Given the description of an element on the screen output the (x, y) to click on. 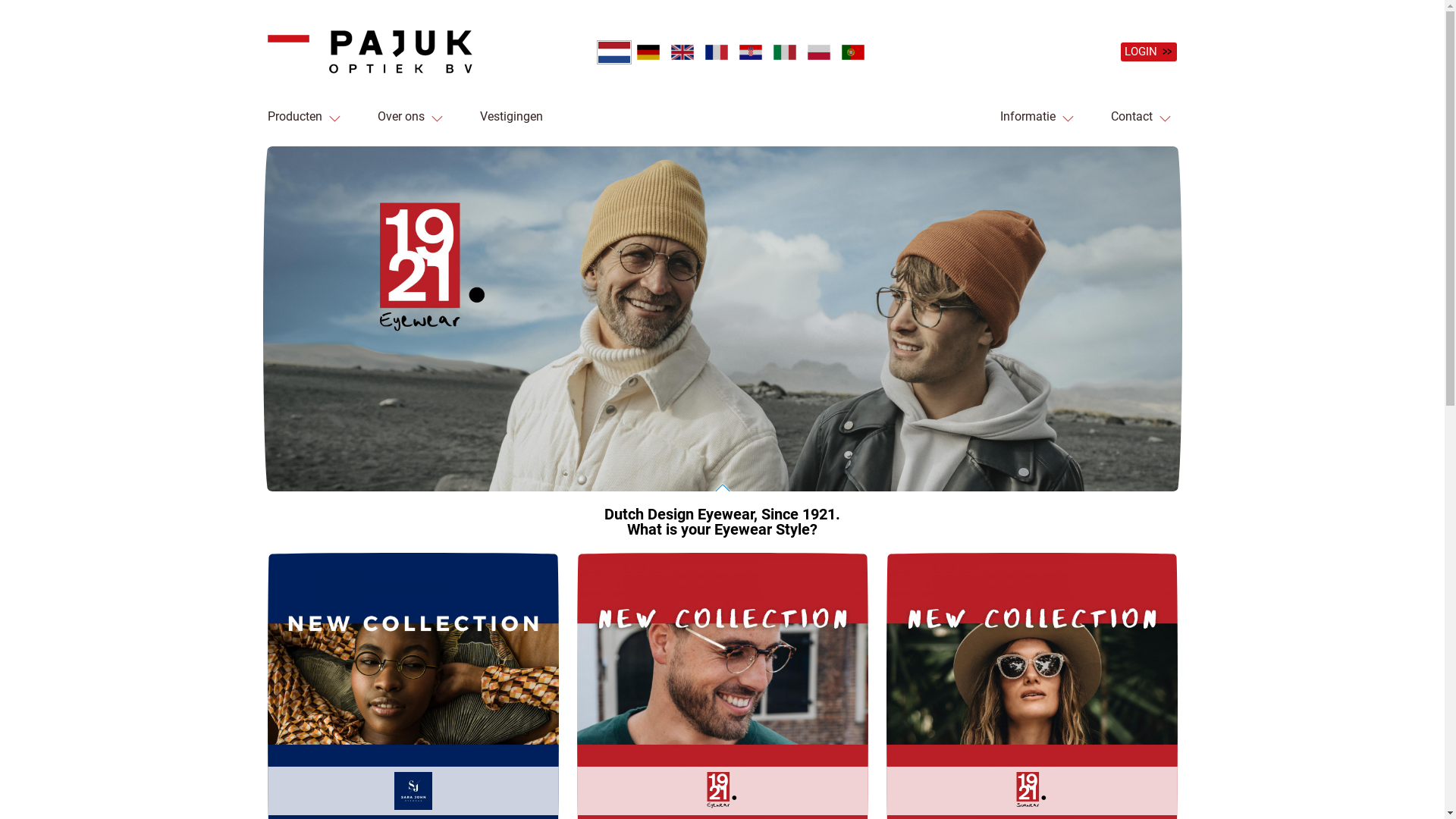
Contact Element type: text (1130, 116)
Deutsch Element type: hover (652, 54)
Sara John Element type: text (324, 153)
LOGIN Element type: text (1148, 51)
Pajuk Optiek B.V. Element type: hover (368, 51)
Dames Element type: text (308, 153)
Informatie Element type: text (1026, 116)
Metaal Element type: text (315, 153)
Metaal Element type: text (323, 153)
Producten Element type: text (293, 116)
Nederlands Element type: hover (614, 51)
Hrvatski Element type: hover (755, 54)
Geschiedenis Element type: text (447, 153)
Over ons Element type: text (400, 116)
Polski Element type: hover (823, 54)
Pajuk Element type: text (1202, 153)
Sportbrillen Element type: text (337, 153)
Metaal Element type: text (338, 153)
Vacatures Element type: text (434, 153)
Vestigingen Element type: text (510, 116)
English Element type: hover (686, 54)
Metaal Element type: text (312, 153)
Italiano Element type: hover (789, 54)
Garantie en VIP Element type: text (1132, 153)
Dames Element type: text (309, 153)
Sollicitatie procedure Element type: text (456, 153)
